Given the description of an element on the screen output the (x, y) to click on. 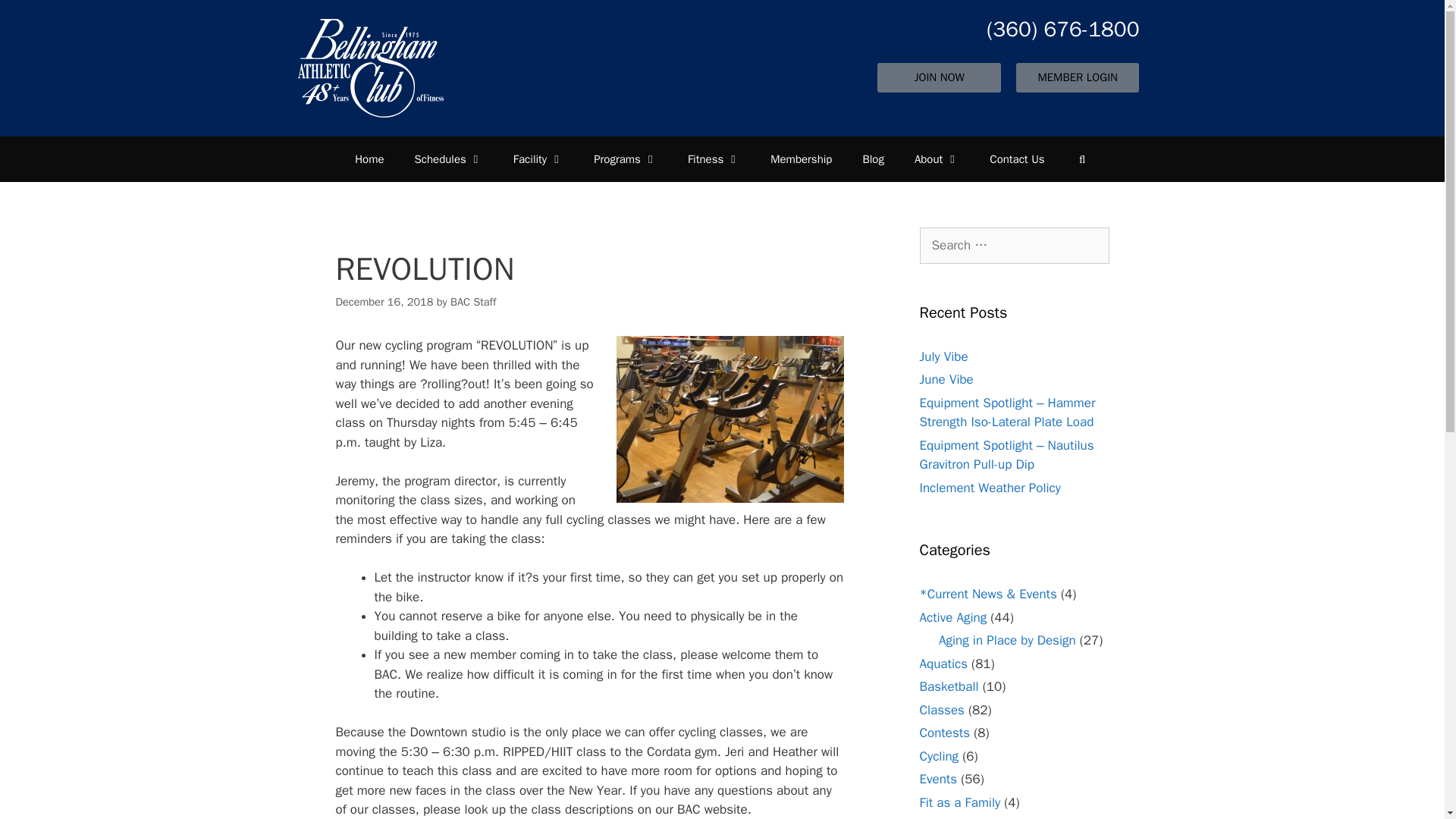
Facility (537, 158)
Programs (625, 158)
Blog (872, 158)
About (936, 158)
Search for: (1013, 245)
Home (368, 158)
View all posts by BAC Staff (472, 301)
Contact Us (1016, 158)
Membership (801, 158)
Fitness (713, 158)
Schedules (447, 158)
JOIN NOW (938, 77)
MEMBER LOGIN (1077, 77)
